Given the description of an element on the screen output the (x, y) to click on. 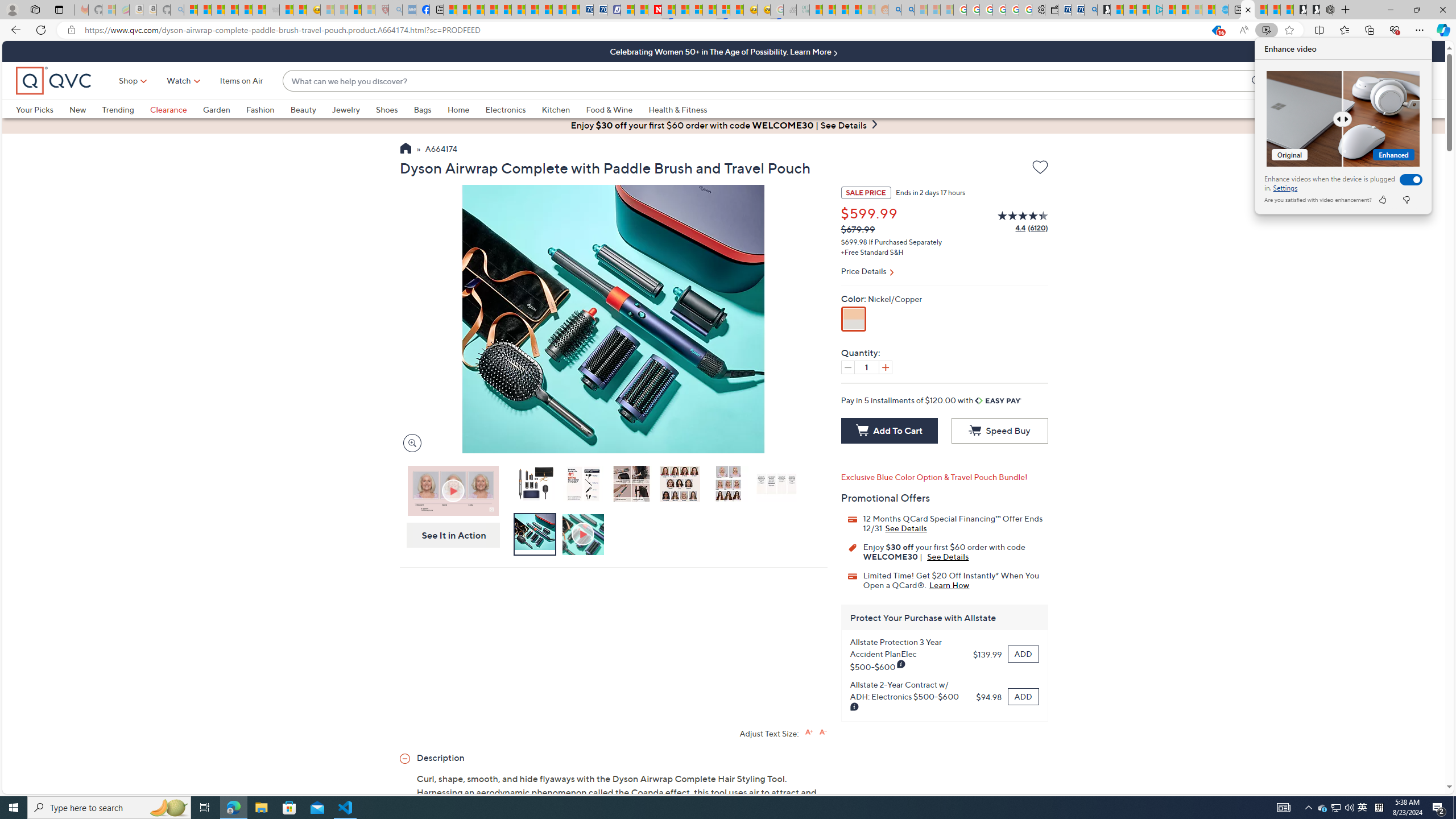
12 Popular Science Lies that Must be Corrected - Sleeping (368, 9)
